Given the description of an element on the screen output the (x, y) to click on. 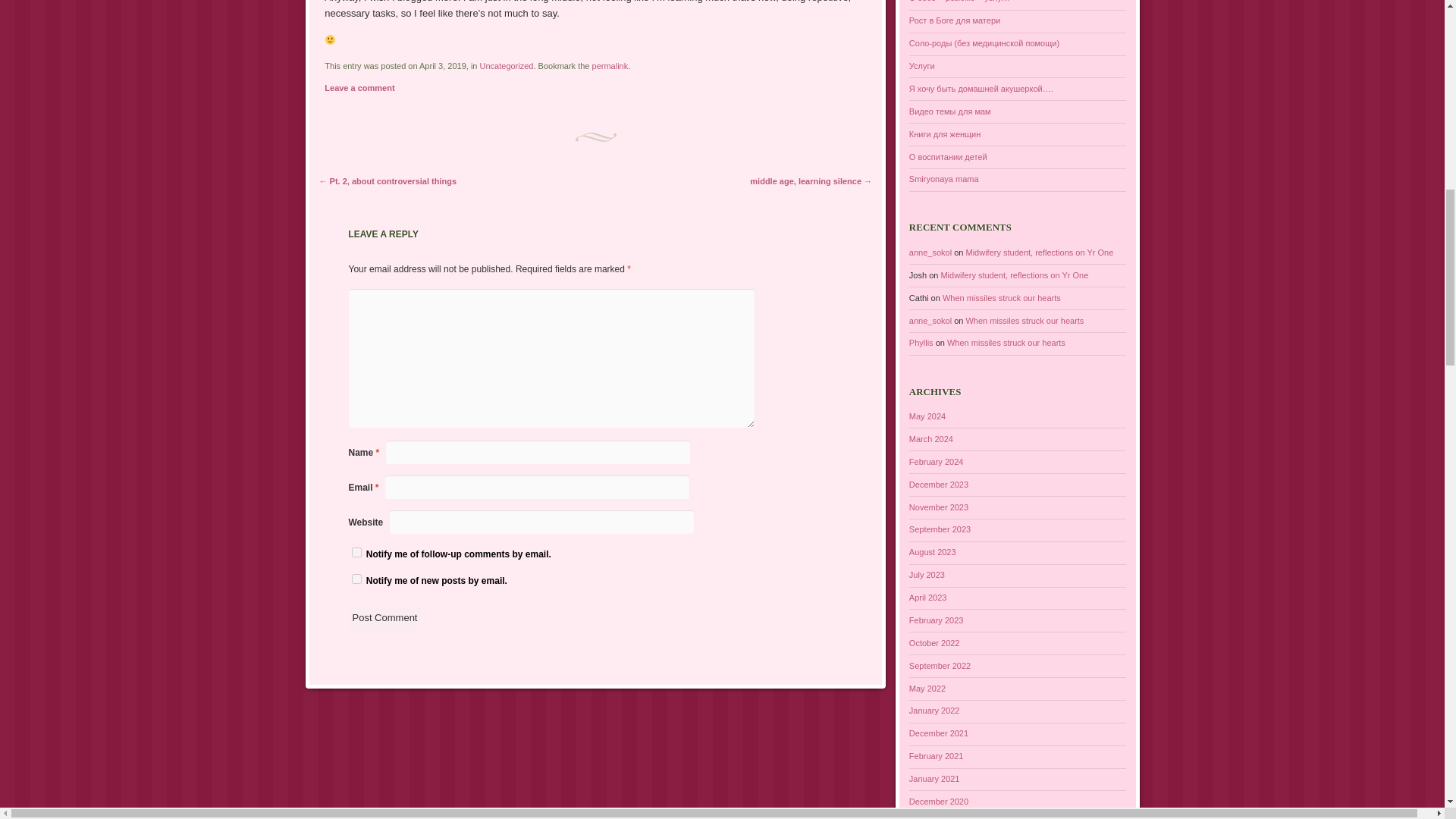
permalink (610, 65)
Post Comment (385, 617)
Leave a comment (359, 87)
Uncategorized (507, 65)
Post Comment (385, 617)
subscribe (356, 578)
subscribe (356, 552)
